Given the description of an element on the screen output the (x, y) to click on. 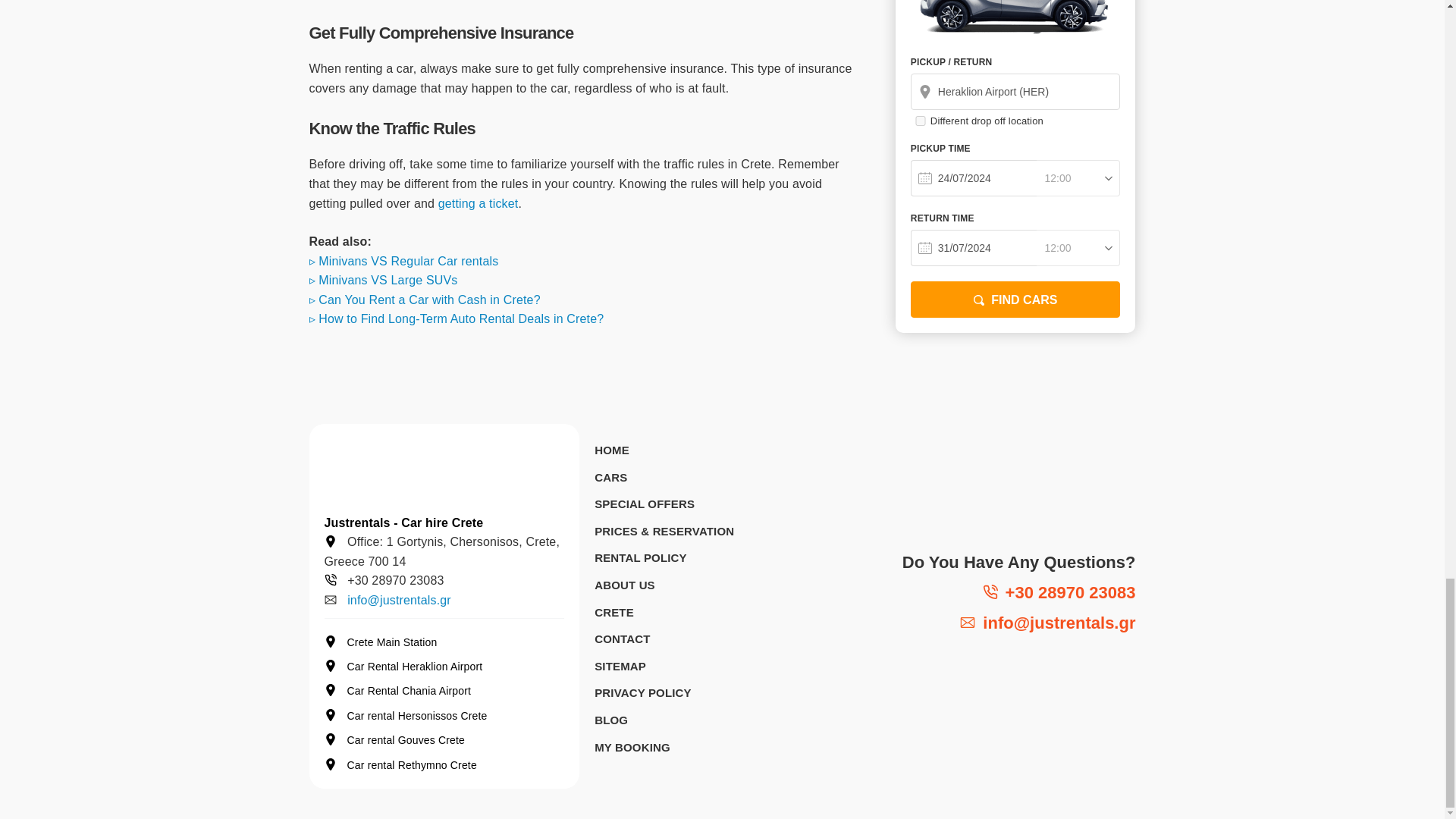
Car Rental Heraklion Airport (444, 666)
Crete Main Station (444, 641)
Justrentals - Car hire Crete (403, 522)
getting a ticket (478, 203)
